Given the description of an element on the screen output the (x, y) to click on. 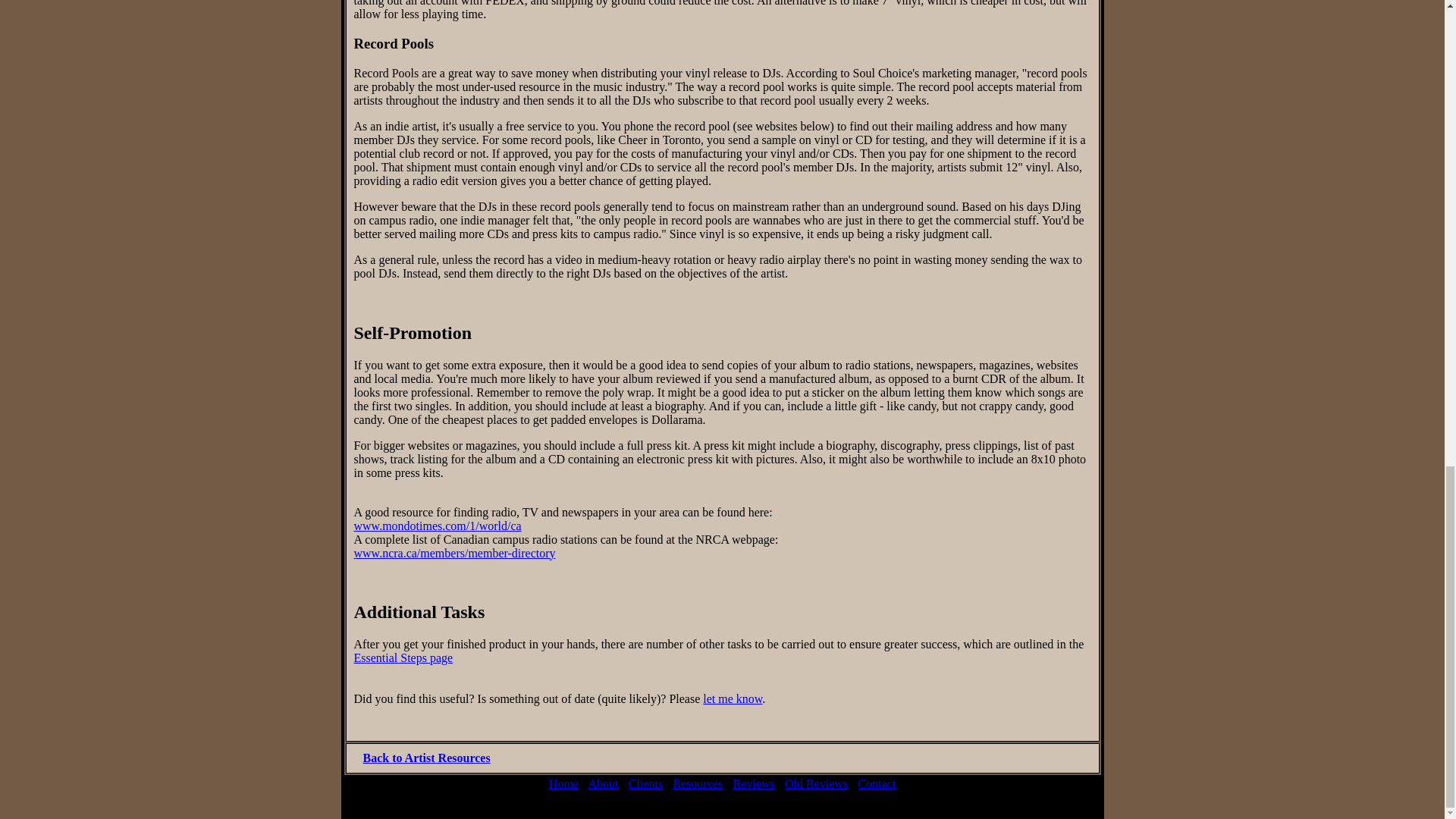
Resources (697, 783)
Old Reviews (815, 783)
Reviews (753, 783)
Contact (876, 783)
Essential Steps page (402, 657)
Home (563, 783)
About (602, 783)
Clients (645, 783)
let me know (732, 698)
Back to Artist Resources (425, 757)
